Given the description of an element on the screen output the (x, y) to click on. 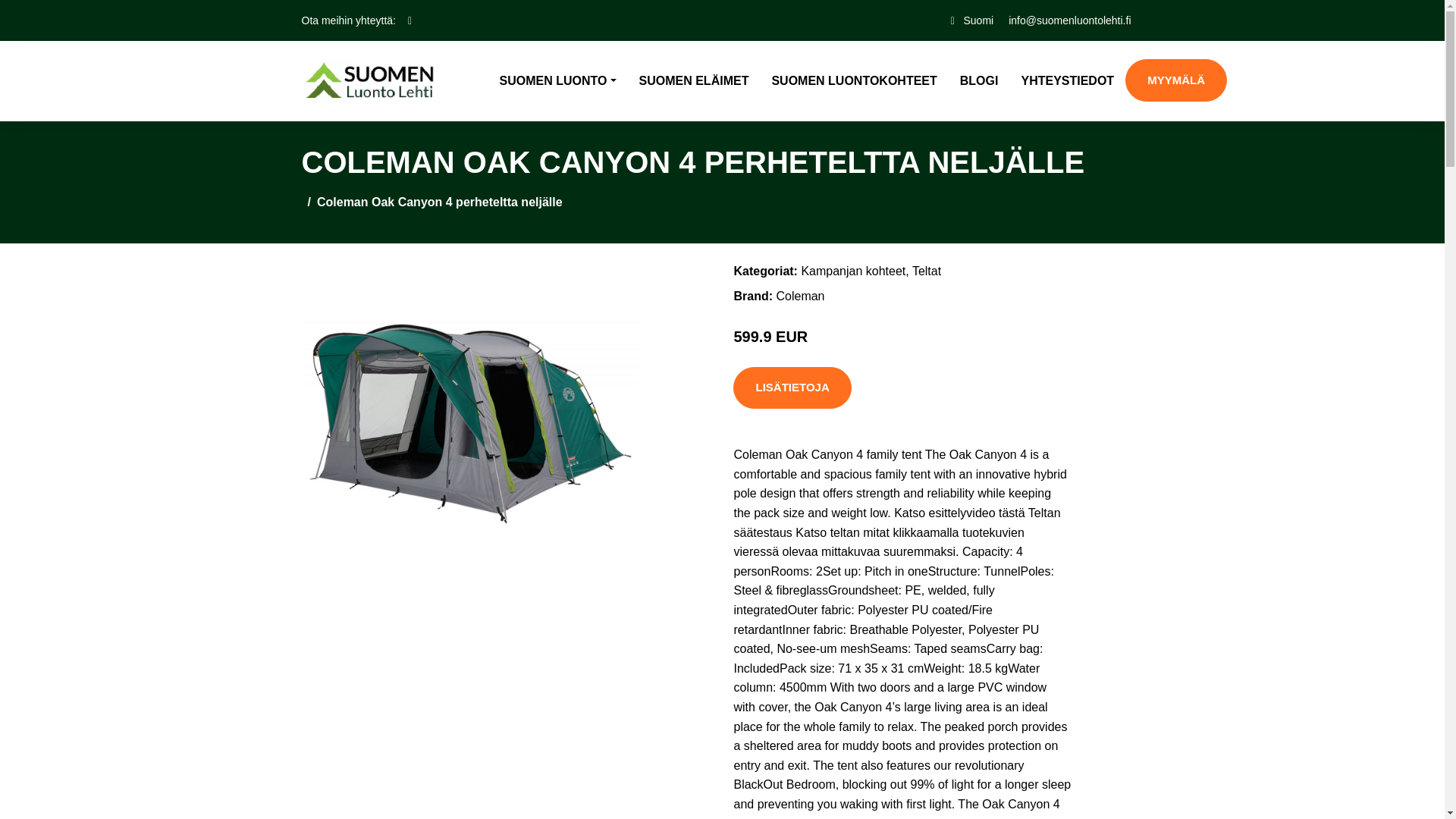
SUOMEN LUONTOKOHTEET (853, 80)
Teltat (926, 270)
Kampanjan kohteet (852, 270)
YHTEYSTIEDOT (1067, 80)
SUOMEN LUONTO (557, 80)
Suomi (977, 20)
